Given the description of an element on the screen output the (x, y) to click on. 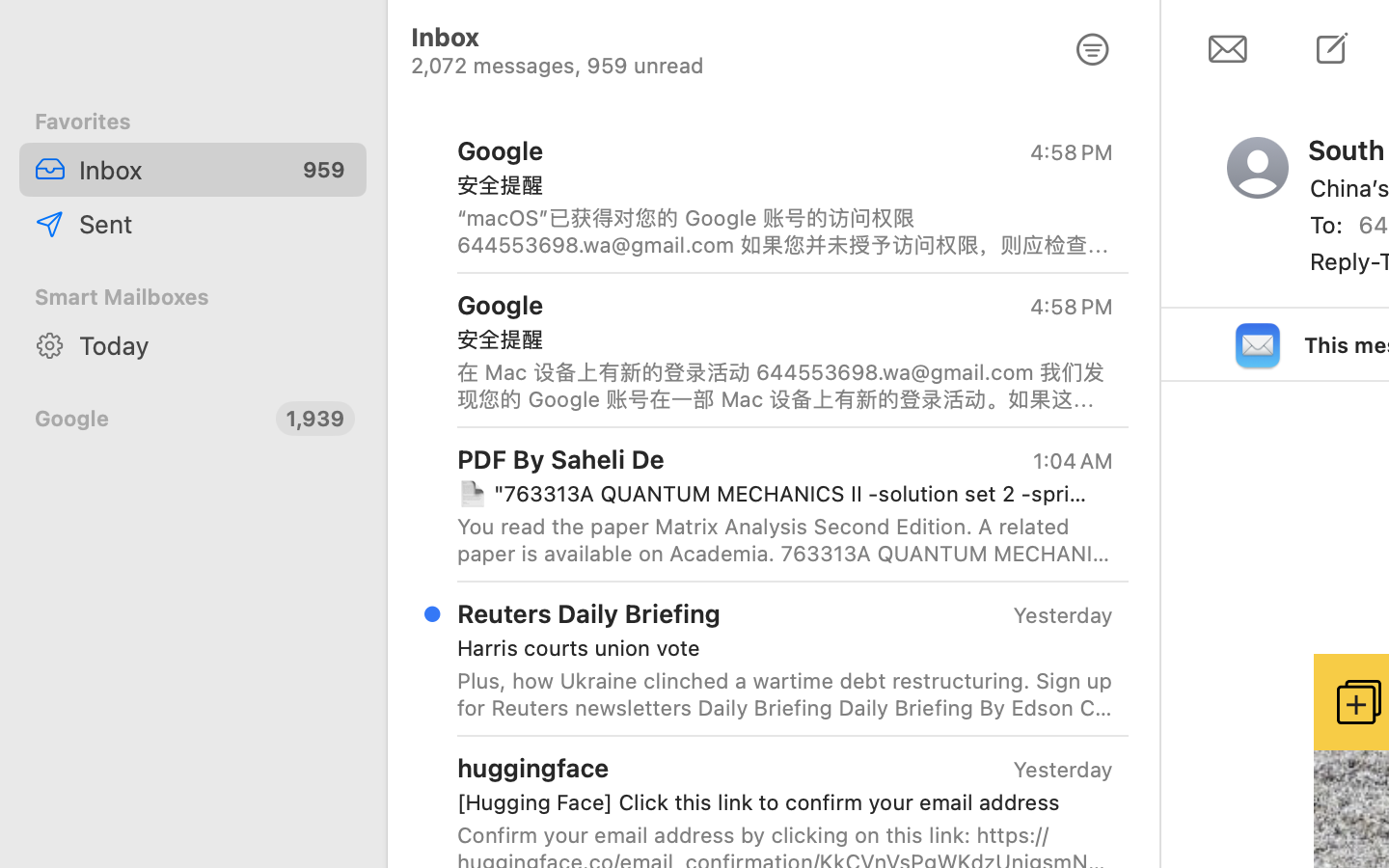
Inbox Element type: AXStaticText (178, 169)
[Hugging Face] Click this link to confirm your email address Element type: AXStaticText (777, 801)
Google Element type: AXStaticText (147, 418)
Reuters Daily Briefing Element type: AXStaticText (589, 612)
Plus, how Ukraine clinched a wartime debt restructuring. Sign up for Reuters newsletters Daily Briefing Daily Briefing By Edson Caldas Kamala Harris said that US Steel should remain in domestic hands, making a pitch to working-class voters in Pennsylvania who are also being courted by her rival Donald Trump. Elsewhere, we cover Britain's partial suspension of arms export licenses to Israel, and a slump in Intel's share price. Plus, why South Korea's beloved Kimchi is at risk. Today's Top News Kamala Harris with Joe Biden's first appearance together at a rally since she became the Democratic nominee. REUTERS/Quinn Glabicki US election Democratic presidential candidate Kamala Harris used campaign events in Michigan and Pennsylvania, two battleground states, to court the crucial labor vote. Harris has neutralized Donald Trump's edge on the economy among Hispanic voters, and her 13 percentage point lead within that group reflects the fact they vastly prefer her approach to healthcare and c Element type: AXStaticText (784, 694)
